Given the description of an element on the screen output the (x, y) to click on. 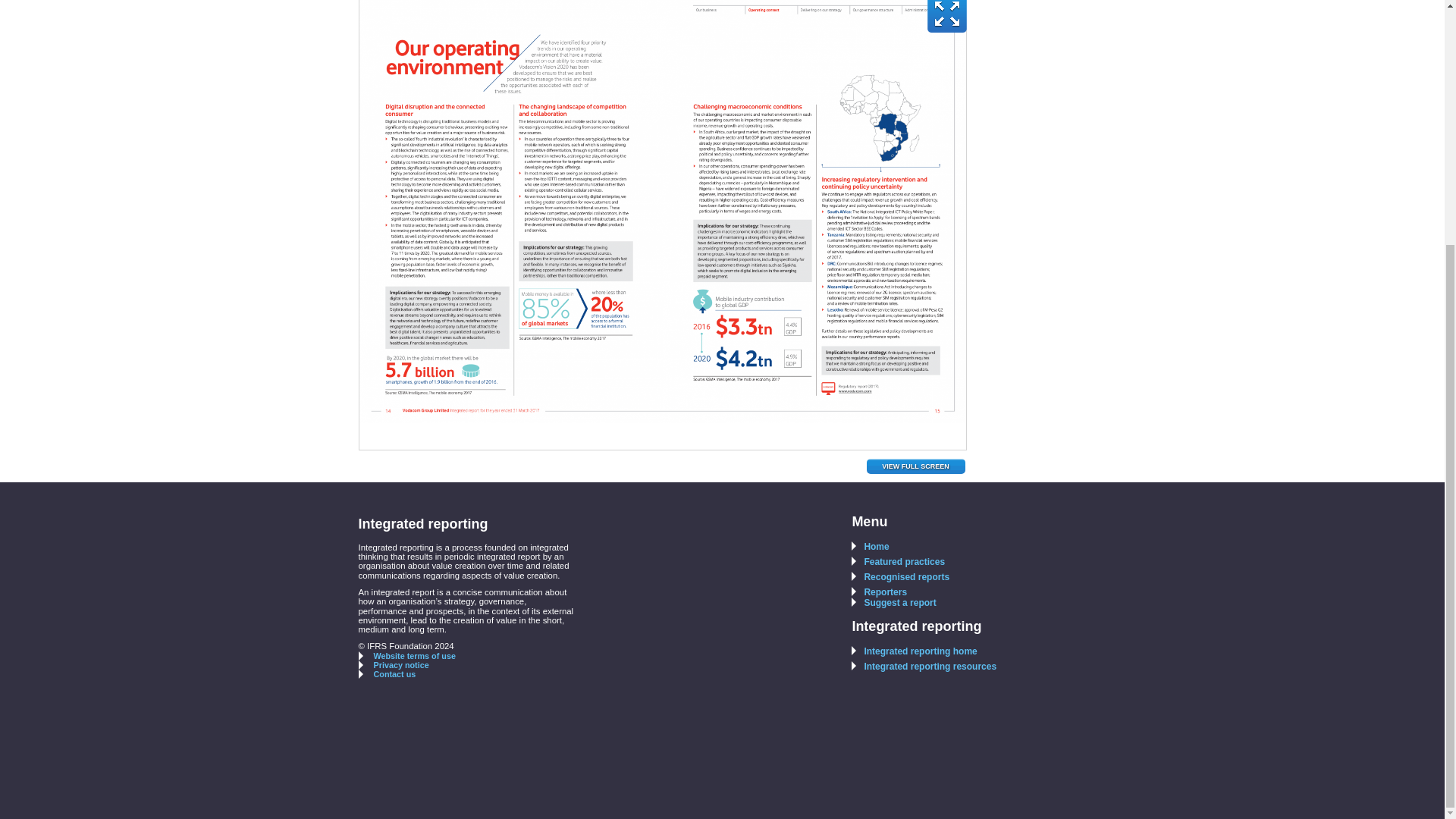
Menu (868, 521)
Website terms of use (406, 655)
Integrated reporting home (913, 651)
Suggest a report (893, 602)
Integrated reporting (916, 626)
Home (869, 546)
Recognised reports (900, 576)
VIEW FULL SCREEN (914, 466)
Privacy notice (393, 664)
Integrated reporting resources (923, 665)
Contact us (386, 673)
Reporters (879, 592)
Featured practices (897, 561)
